Given the description of an element on the screen output the (x, y) to click on. 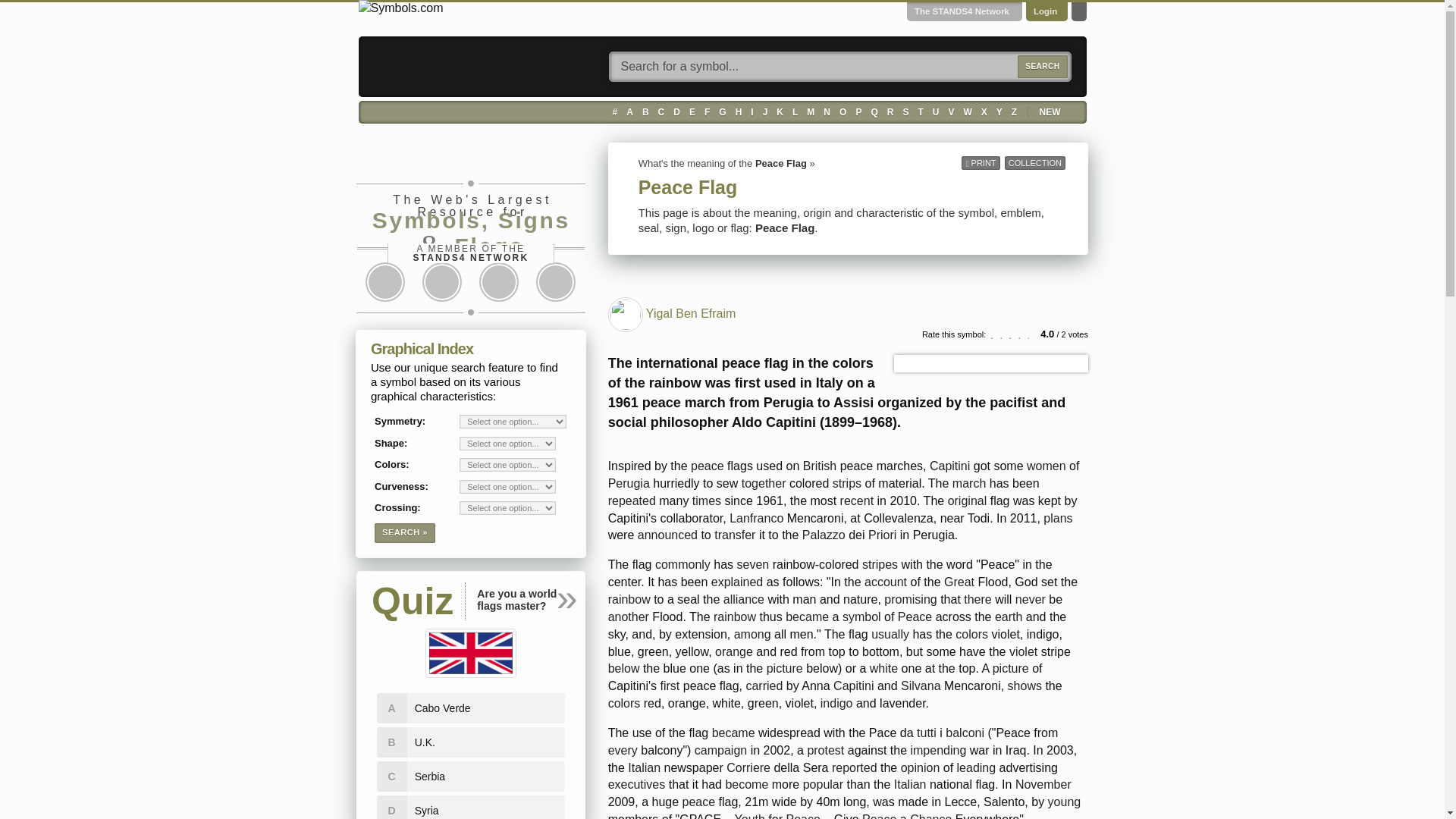
Yigal Ben Efraim (691, 313)
click to add Peace Flag to your collection (1034, 162)
Yigal Ben Efraim (625, 313)
Yigal Ben Efraim (625, 314)
Login (1045, 10)
SEARCH (1042, 66)
rate it (1012, 334)
Symbols.com (400, 8)
click to send Peace Flag to your printer (979, 162)
